Given the description of an element on the screen output the (x, y) to click on. 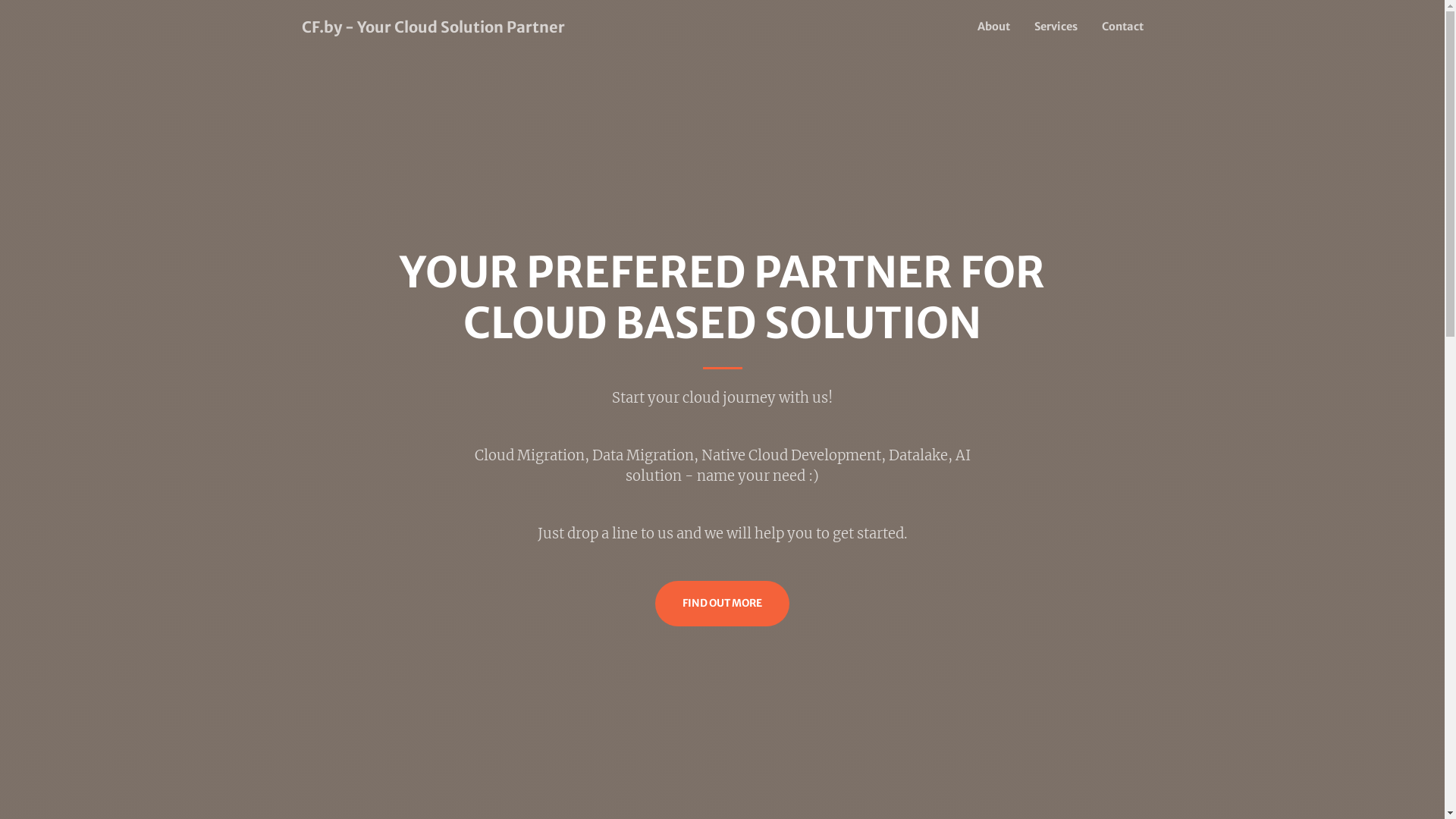
About Element type: text (992, 26)
FIND OUT MORE Element type: text (722, 603)
Services Element type: text (1055, 26)
CF.by - Your Cloud Solution Partner Element type: text (432, 27)
Contact Element type: text (1115, 26)
